Given the description of an element on the screen output the (x, y) to click on. 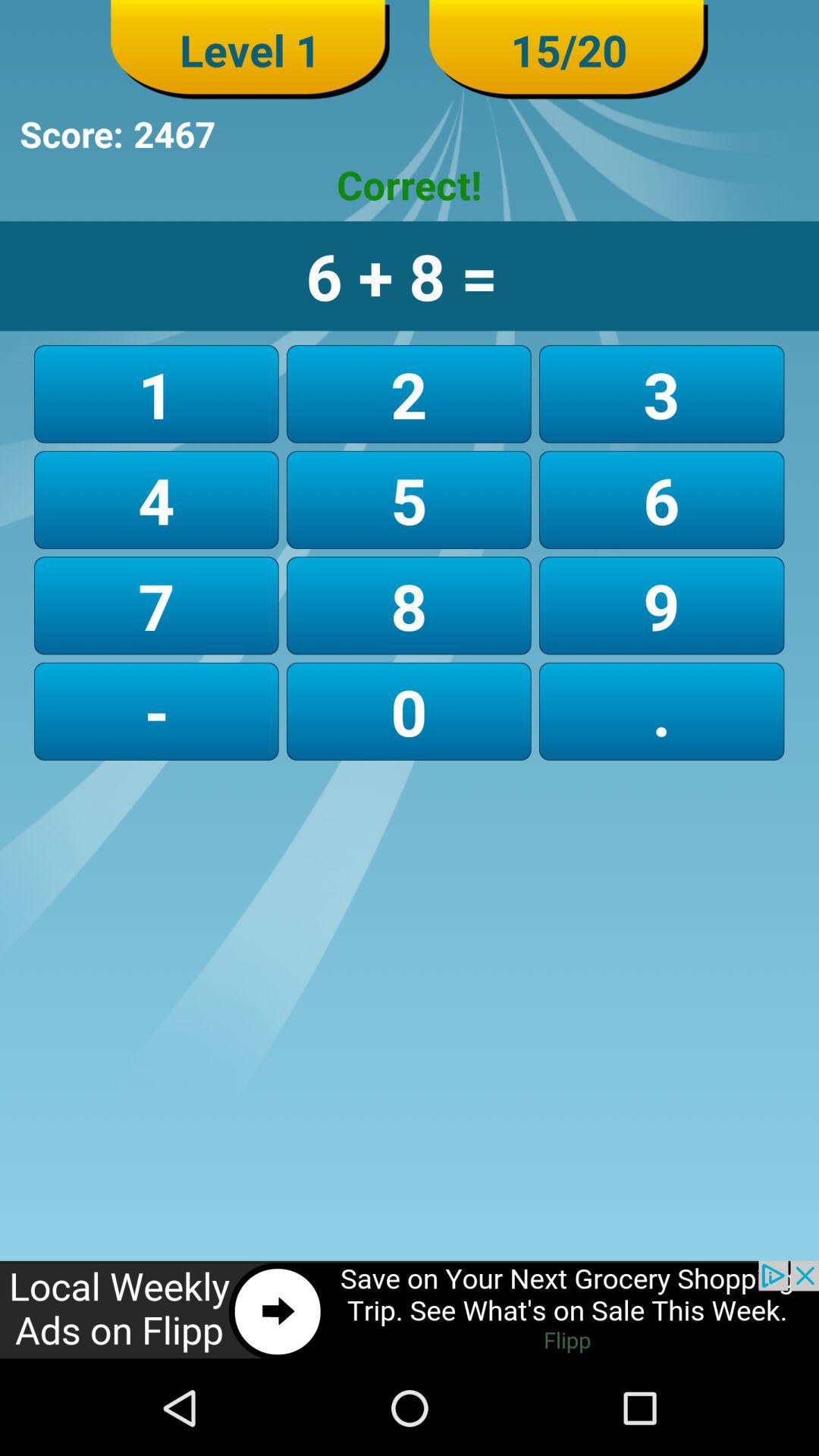
open item below - item (409, 1310)
